Given the description of an element on the screen output the (x, y) to click on. 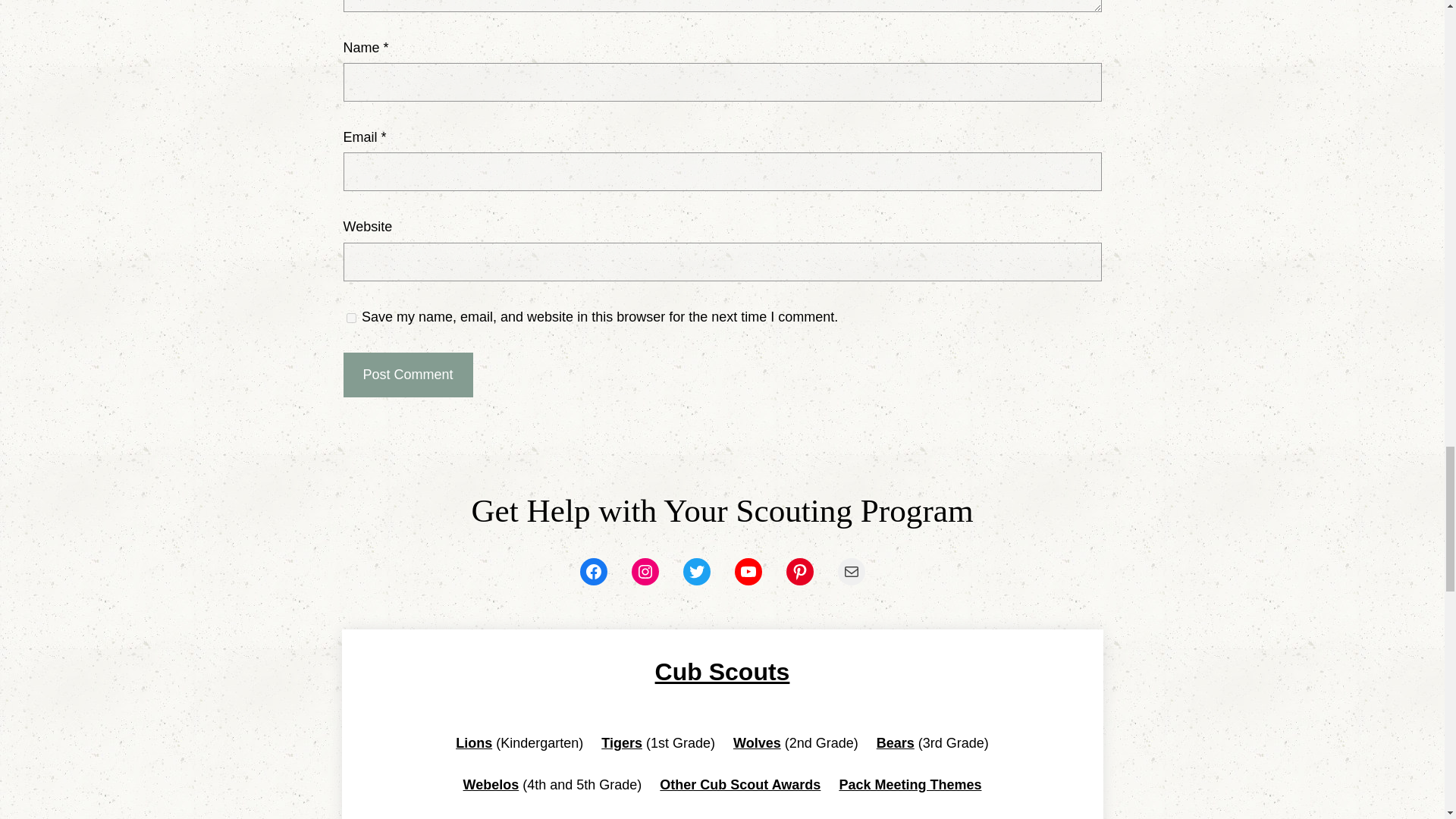
Mail (850, 571)
Cub Scouts (722, 671)
Facebook (593, 571)
Pack Meeting Themes (909, 784)
Post Comment (406, 374)
Twitter (696, 571)
Other Cub Scout Awards (740, 784)
YouTube (747, 571)
Pinterest (799, 571)
